Given the description of an element on the screen output the (x, y) to click on. 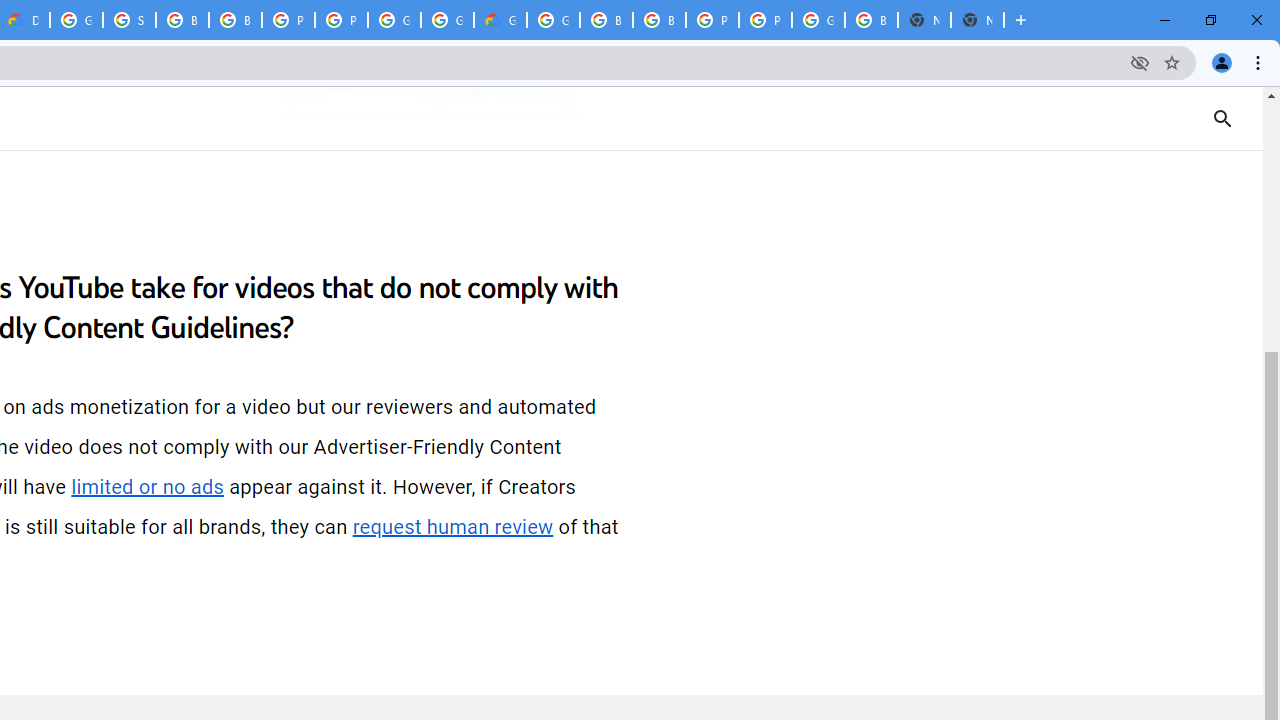
request human review (453, 527)
Google Cloud Platform (818, 20)
Google Cloud Platform (553, 20)
Google Cloud Estimate Summary (500, 20)
